Given the description of an element on the screen output the (x, y) to click on. 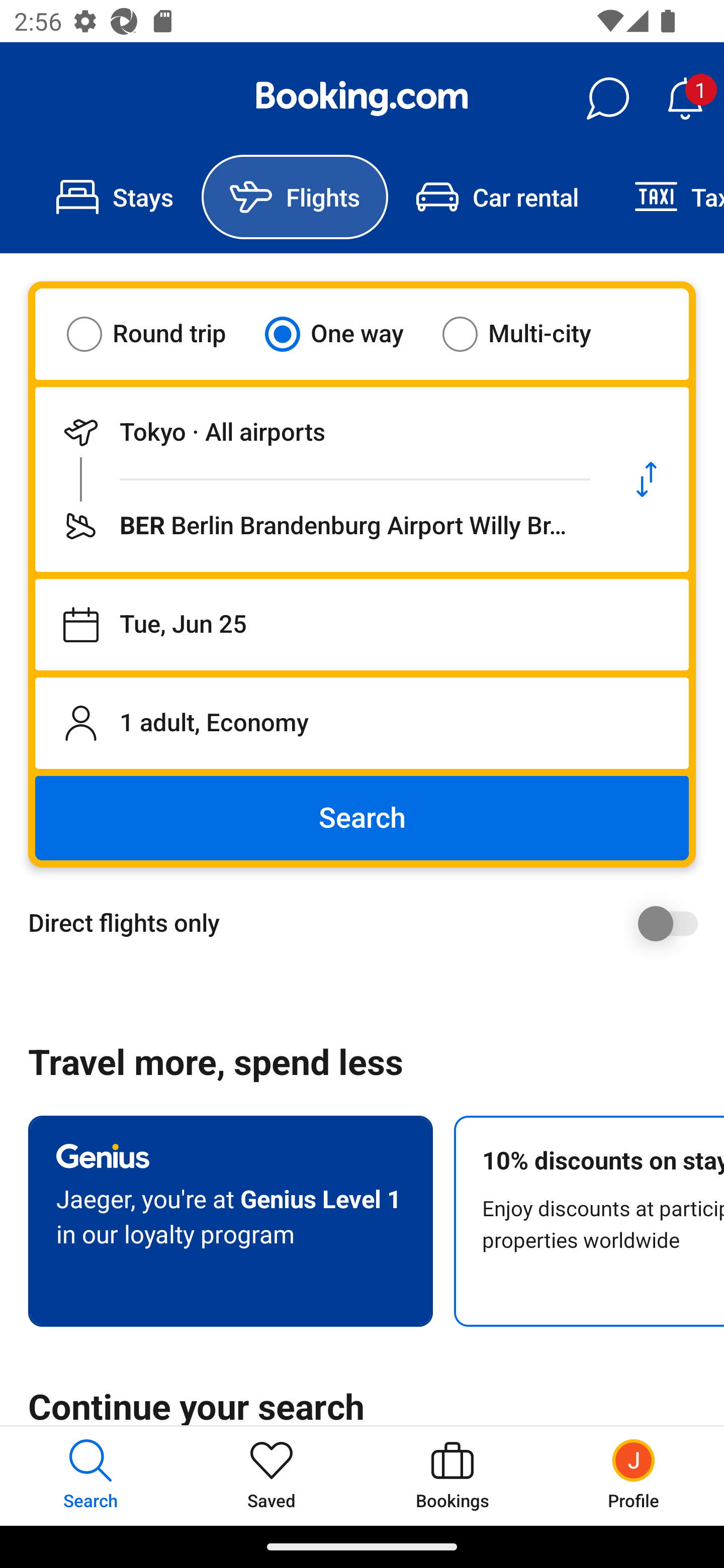
Messages (607, 98)
Notifications (685, 98)
Stays (114, 197)
Flights (294, 197)
Car rental (497, 197)
Taxi (665, 197)
Round trip (158, 333)
Multi-city (528, 333)
Departing from Tokyo · All airports (319, 432)
Swap departure location and destination (646, 479)
Departing on Tue, Jun 25 (361, 624)
1 adult, Economy (361, 722)
Search (361, 818)
Direct flights only (369, 923)
Saved (271, 1475)
Bookings (452, 1475)
Profile (633, 1475)
